Given the description of an element on the screen output the (x, y) to click on. 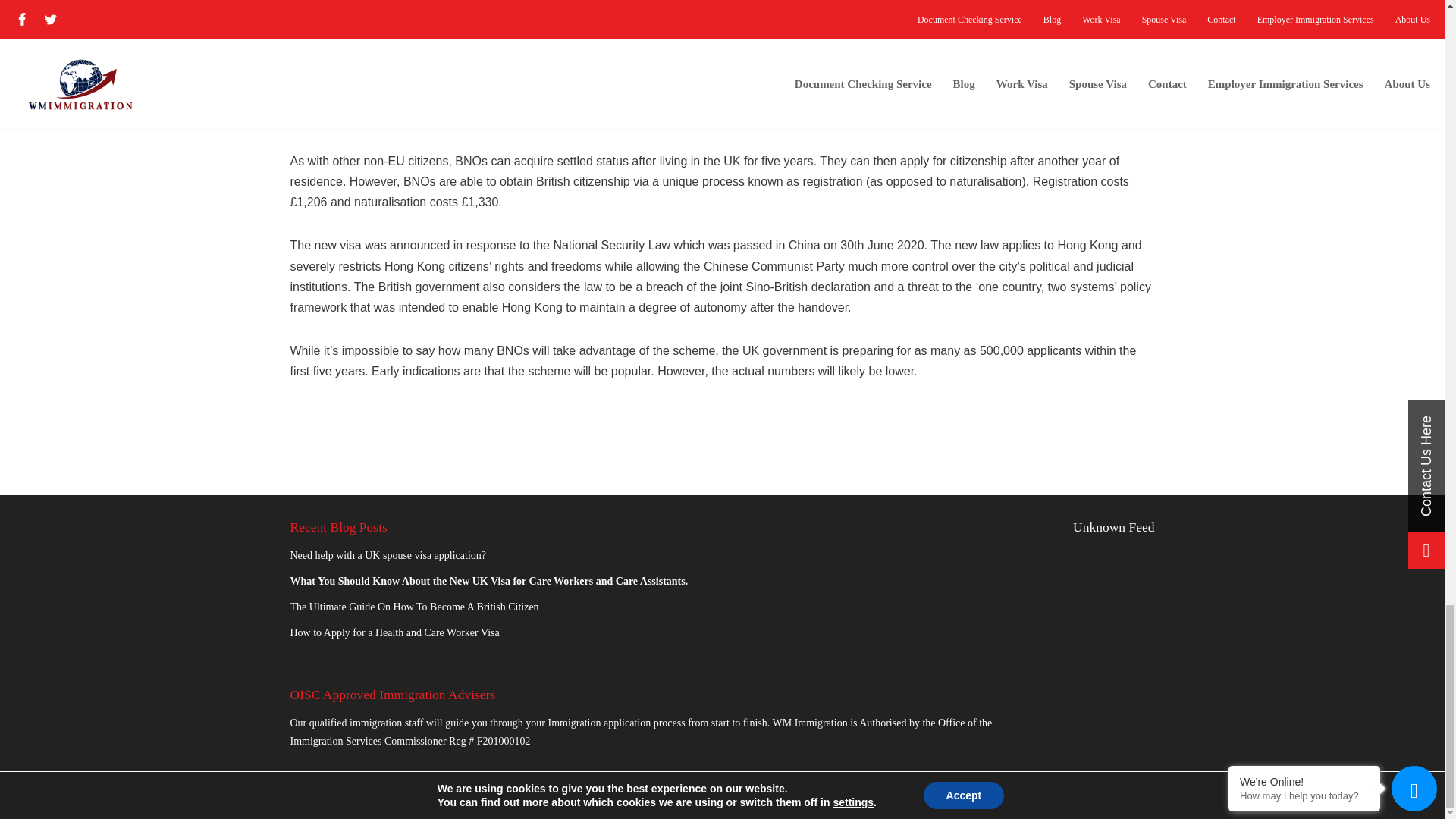
About our UK Immigration Services (764, 788)
Need help with a UK spouse visa application? (387, 555)
Contact Us (713, 788)
Document Checking Service (478, 788)
Unknown Feed (1113, 526)
How to Apply for a Health and Care Worker Visa (394, 632)
Privacy policy (645, 788)
The Ultimate Guide On How To Become A British Citizen (413, 606)
Careers (577, 788)
